Given the description of an element on the screen output the (x, y) to click on. 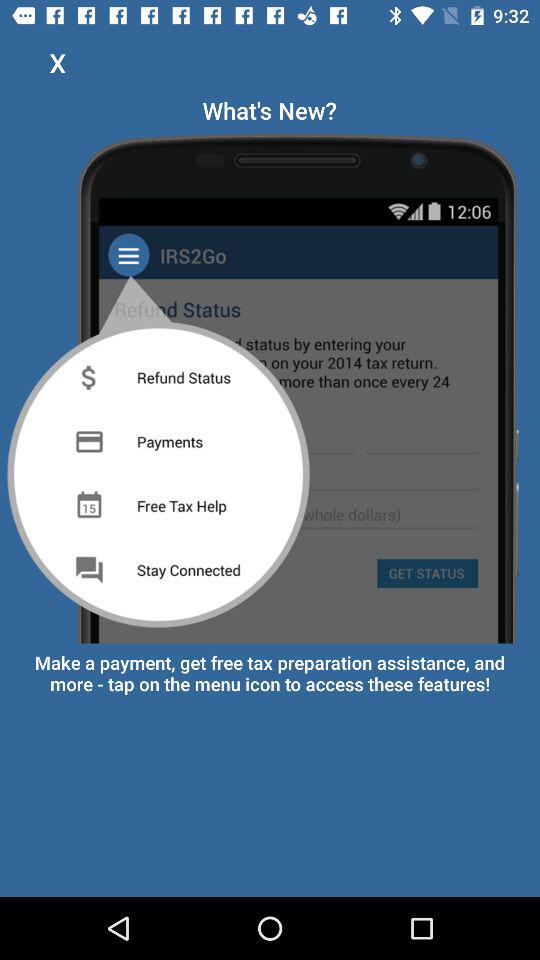
choose app above the make a payment app (270, 384)
